Given the description of an element on the screen output the (x, y) to click on. 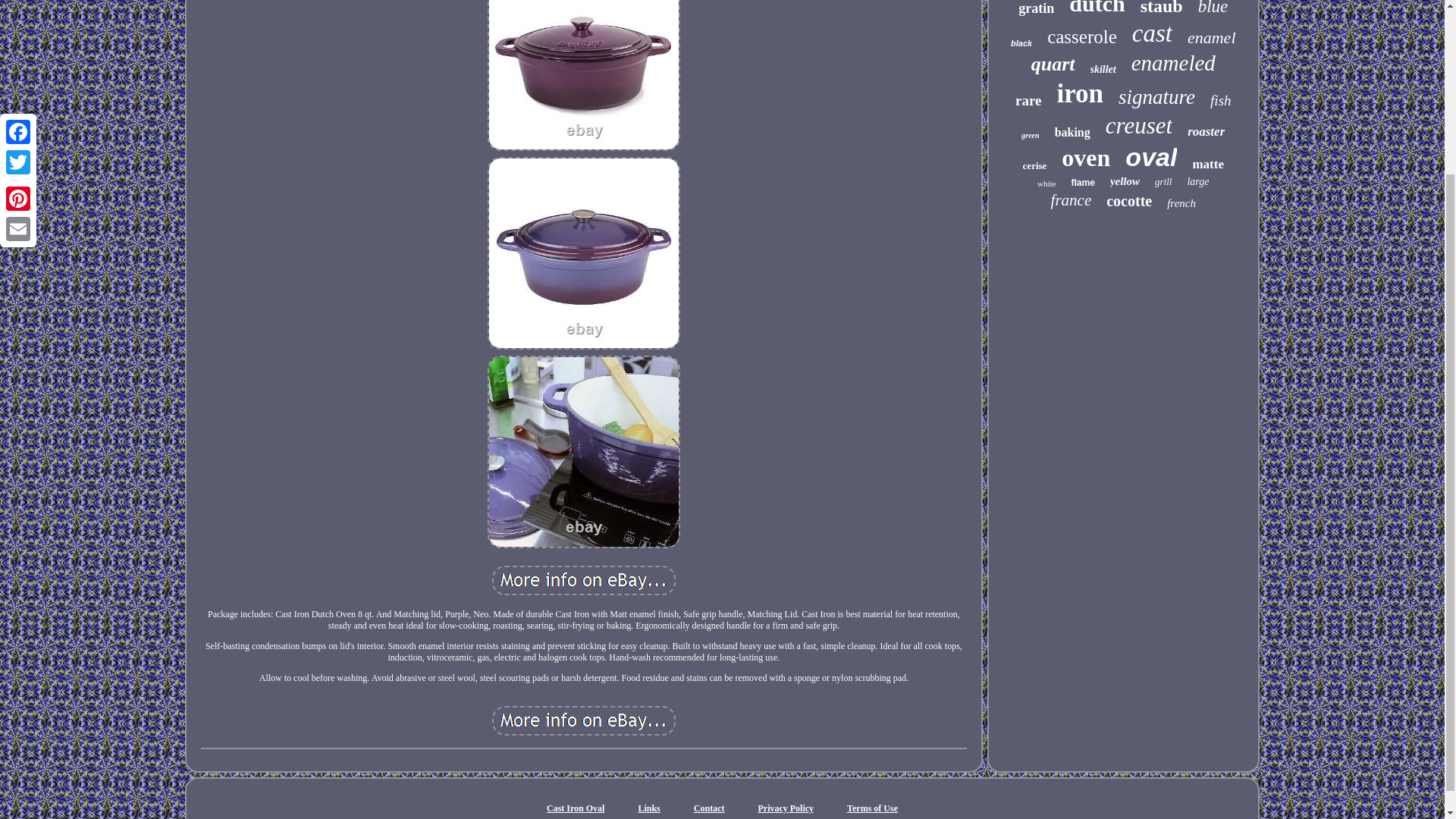
black (1021, 42)
Email (17, 13)
skillet (1103, 69)
enameled (1173, 63)
green (1030, 135)
staub (1161, 8)
Neo 8qt Cast Iron Oval Cov Casserole Purple (583, 253)
gratin (1035, 8)
dutch (1096, 8)
casserole (1081, 36)
cast (1152, 33)
Neo 8qt Cast Iron Oval Cov Casserole Purple (583, 451)
Neo 8qt Cast Iron Oval Cov Casserole Purple (583, 580)
signature (1156, 96)
enamel (1212, 37)
